Given the description of an element on the screen output the (x, y) to click on. 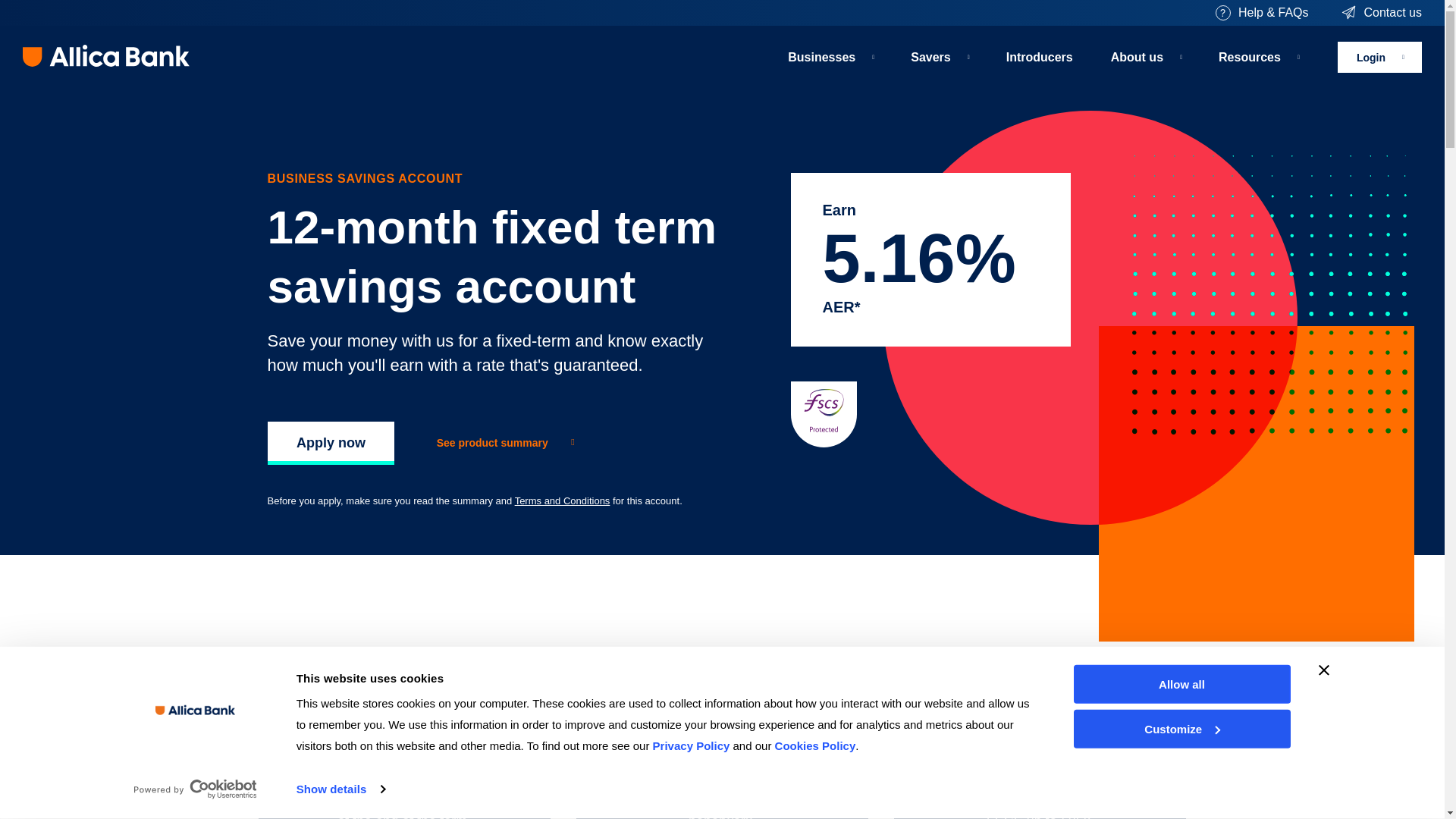
Privacy Policy (691, 745)
Cookies Policy (815, 745)
Show details (340, 789)
